Given the description of an element on the screen output the (x, y) to click on. 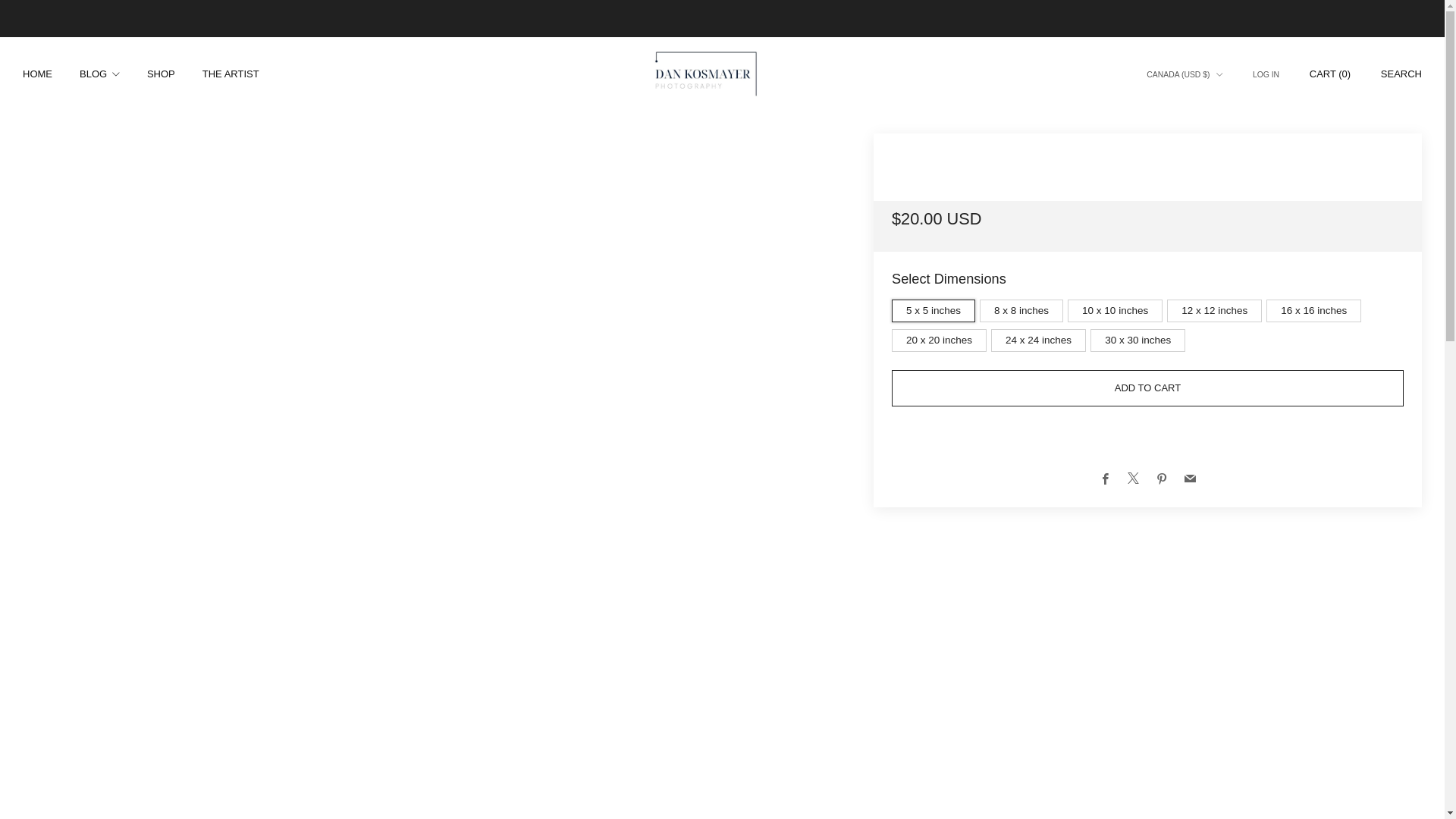
12 x 12 inches (1216, 307)
10 x 10 inches (1117, 307)
8 x 8 inches (1023, 307)
SHOP (160, 73)
HOME (37, 73)
30 x 30 inches (1139, 337)
THE ARTIST (230, 73)
BLOG (99, 73)
